Given the description of an element on the screen output the (x, y) to click on. 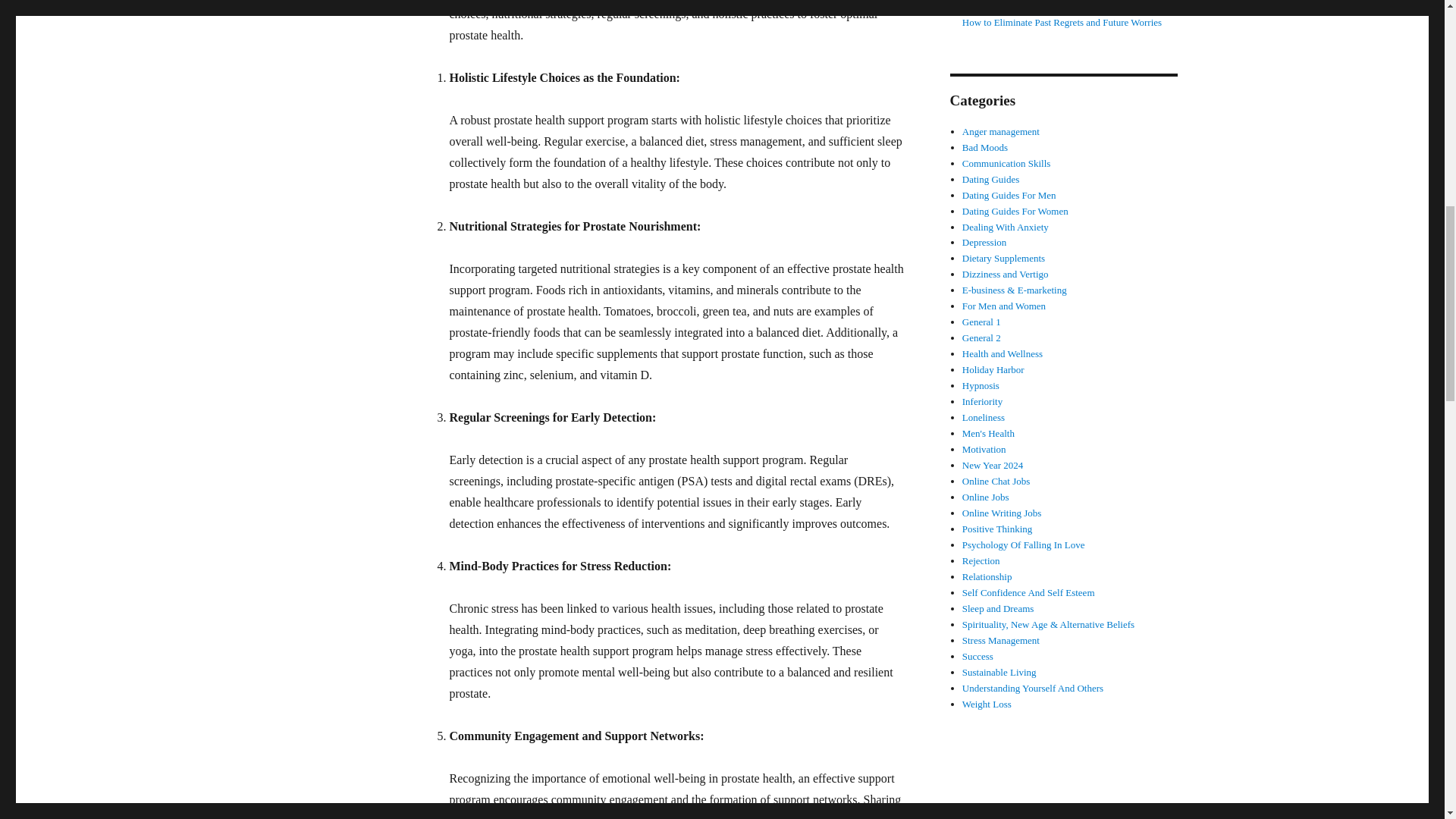
Inferiority (982, 401)
Motivation (984, 449)
Dating Guides For Women (1015, 211)
Health and Wellness (1002, 353)
General 1 (981, 321)
Dietary Supplements (1003, 257)
Anger management (1000, 131)
How to Eliminate Past Regrets and Future Worries (1061, 21)
For Men and Women (1003, 306)
Dating Guides (990, 179)
Loneliness (983, 417)
Dealing With Anxiety (1005, 226)
Hypnosis (980, 385)
Communication Skills (1006, 163)
Men's Health (988, 432)
